Given the description of an element on the screen output the (x, y) to click on. 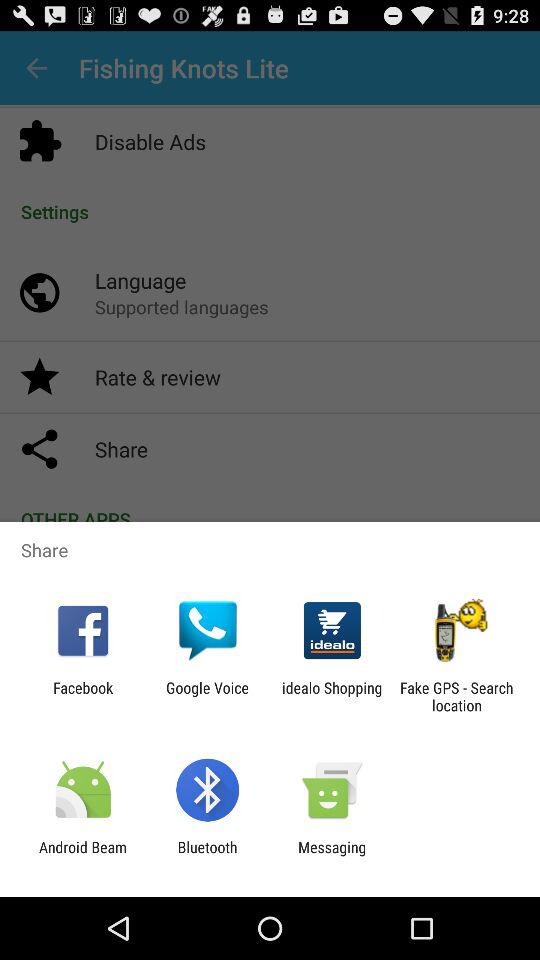
launch icon next to bluetooth app (83, 856)
